Given the description of an element on the screen output the (x, y) to click on. 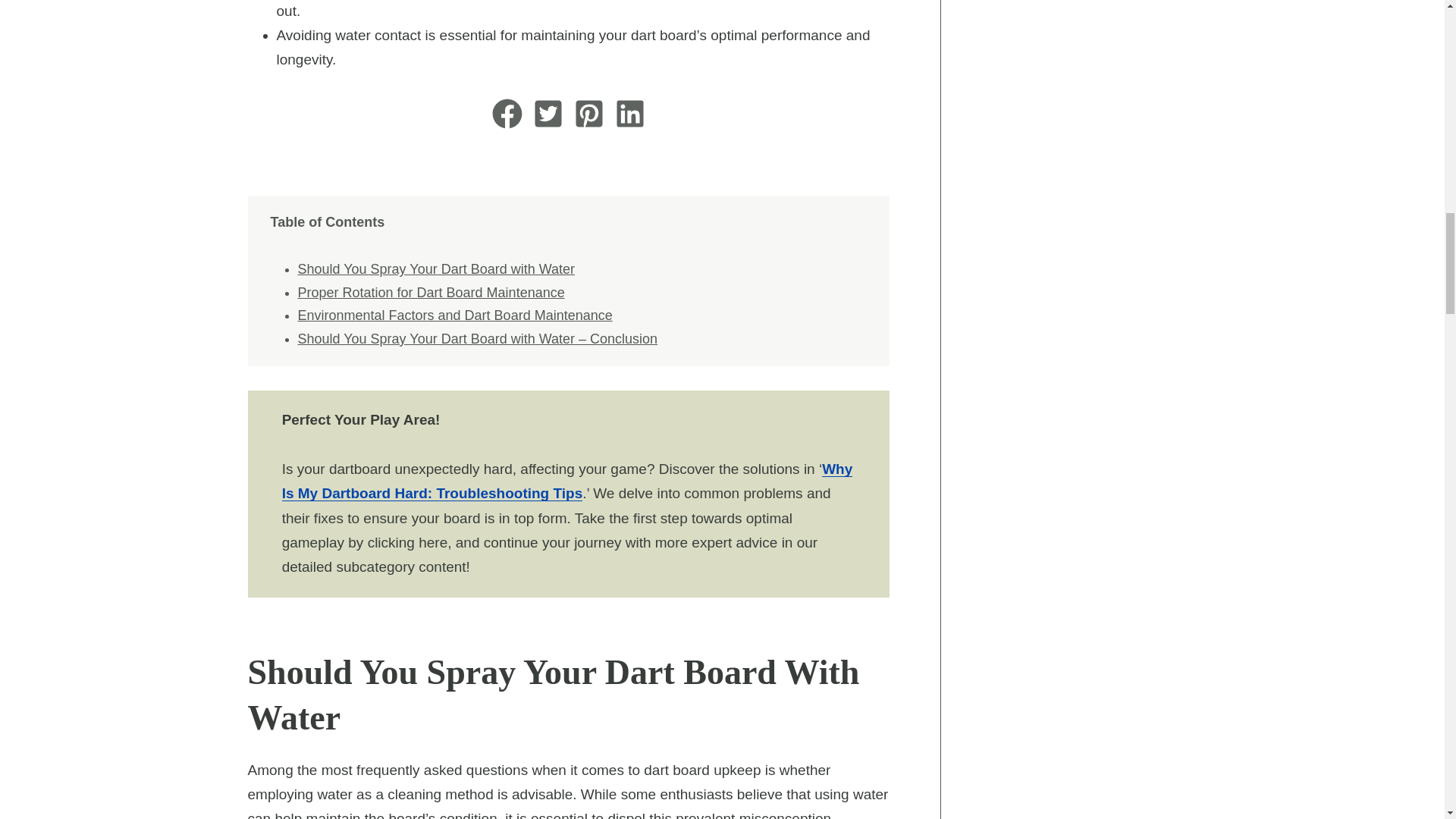
Should You Spray Your Dart Board with Water (436, 268)
Why Is My Dartboard Hard: Troubleshooting Tips (567, 481)
Proper Rotation for Dart Board Maintenance (430, 292)
Environmental Factors and Dart Board Maintenance (454, 314)
